Given the description of an element on the screen output the (x, y) to click on. 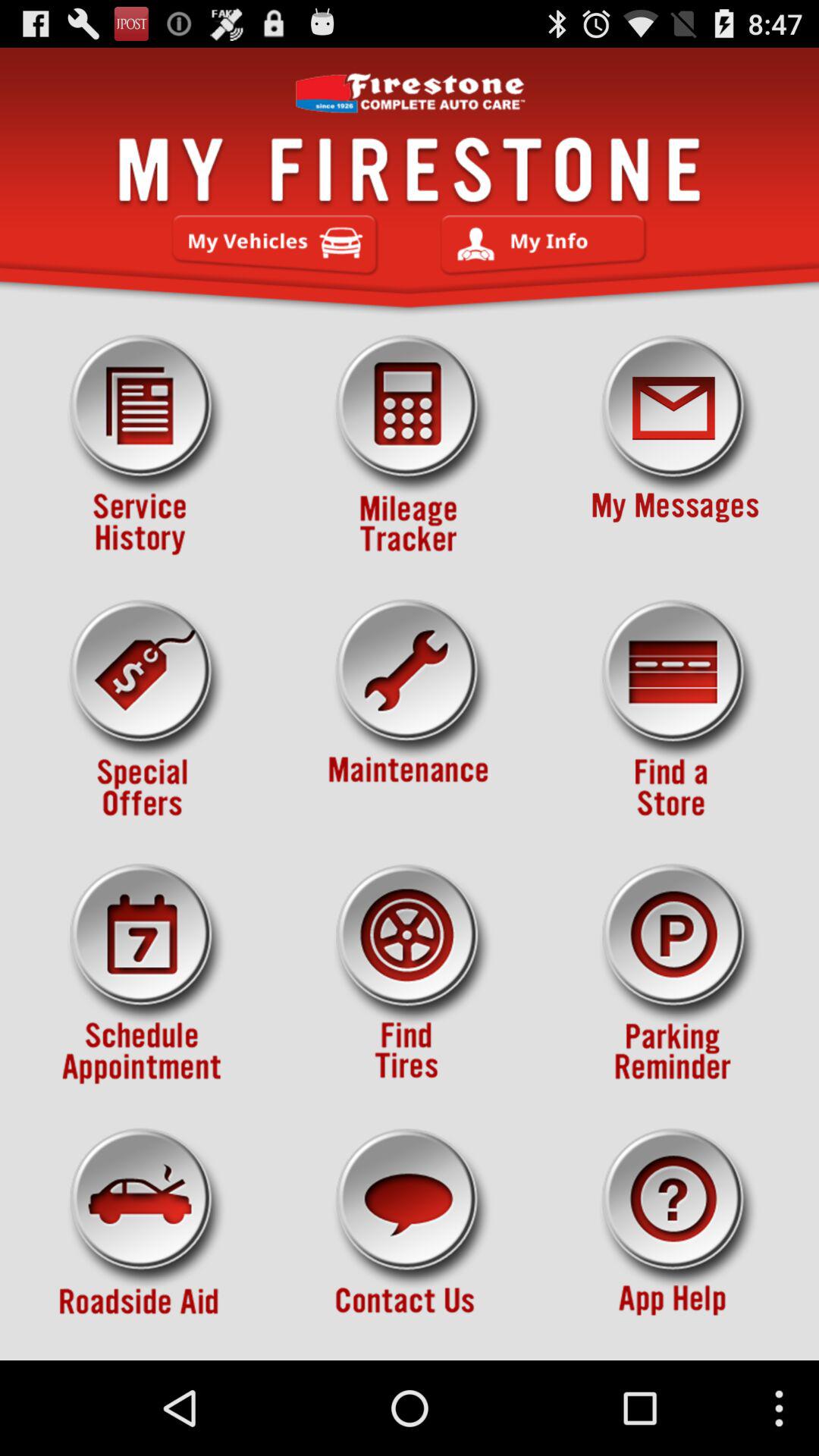
go to messages (675, 445)
